Given the description of an element on the screen output the (x, y) to click on. 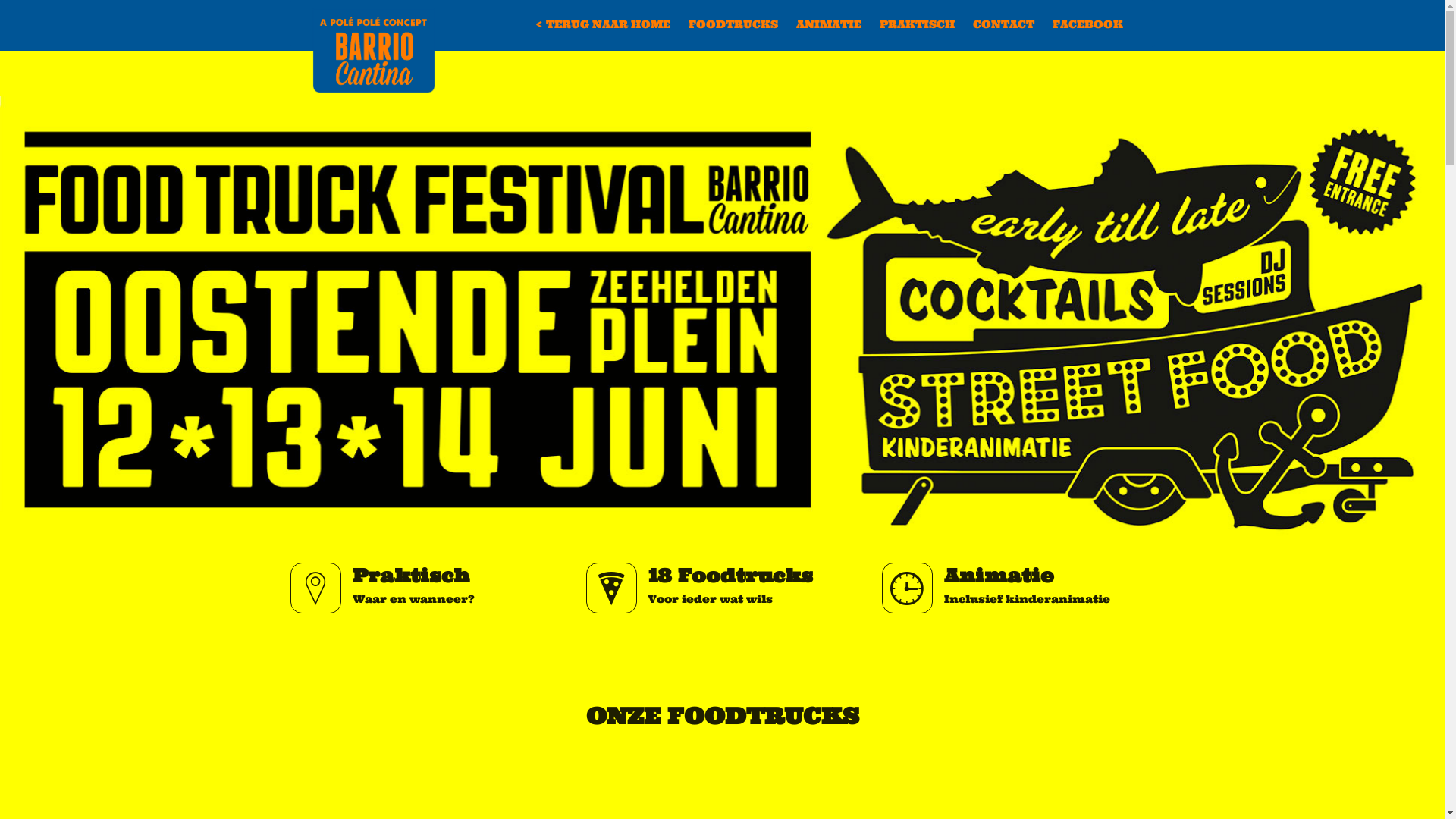
PRAKTISCH Element type: text (916, 24)
CONTACT Element type: text (1002, 24)
FOODTRUCKS Element type: text (733, 24)
ANIMATIE Element type: text (828, 24)
FACEBOOK Element type: text (1087, 24)
< TERUG NAAR HOME Element type: text (602, 24)
